Given the description of an element on the screen output the (x, y) to click on. 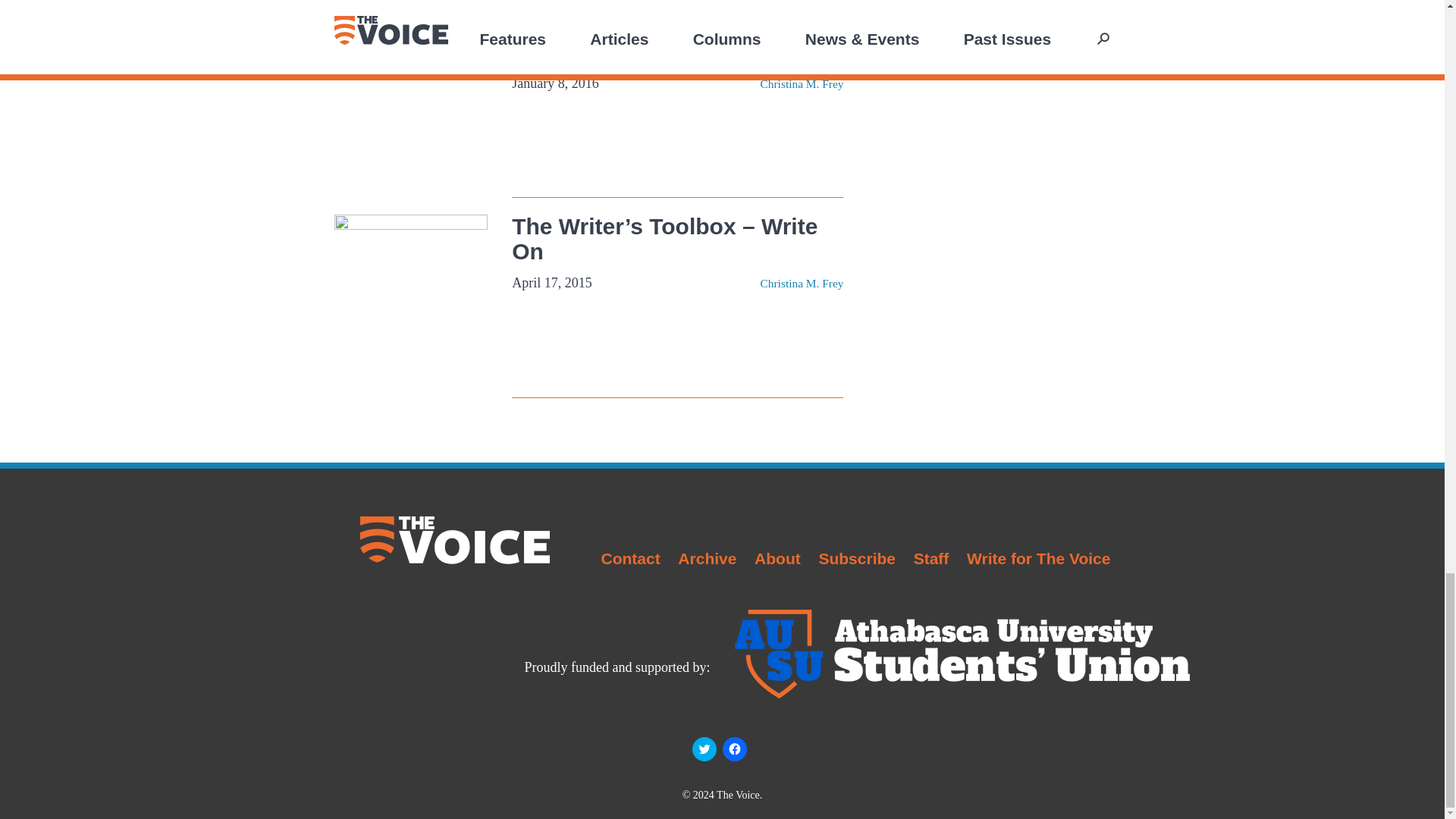
Christina M. Frey (801, 282)
Posts by Christina M. Frey (801, 83)
Christina M. Frey (801, 83)
Posts by Christina M. Frey (801, 282)
